Given the description of an element on the screen output the (x, y) to click on. 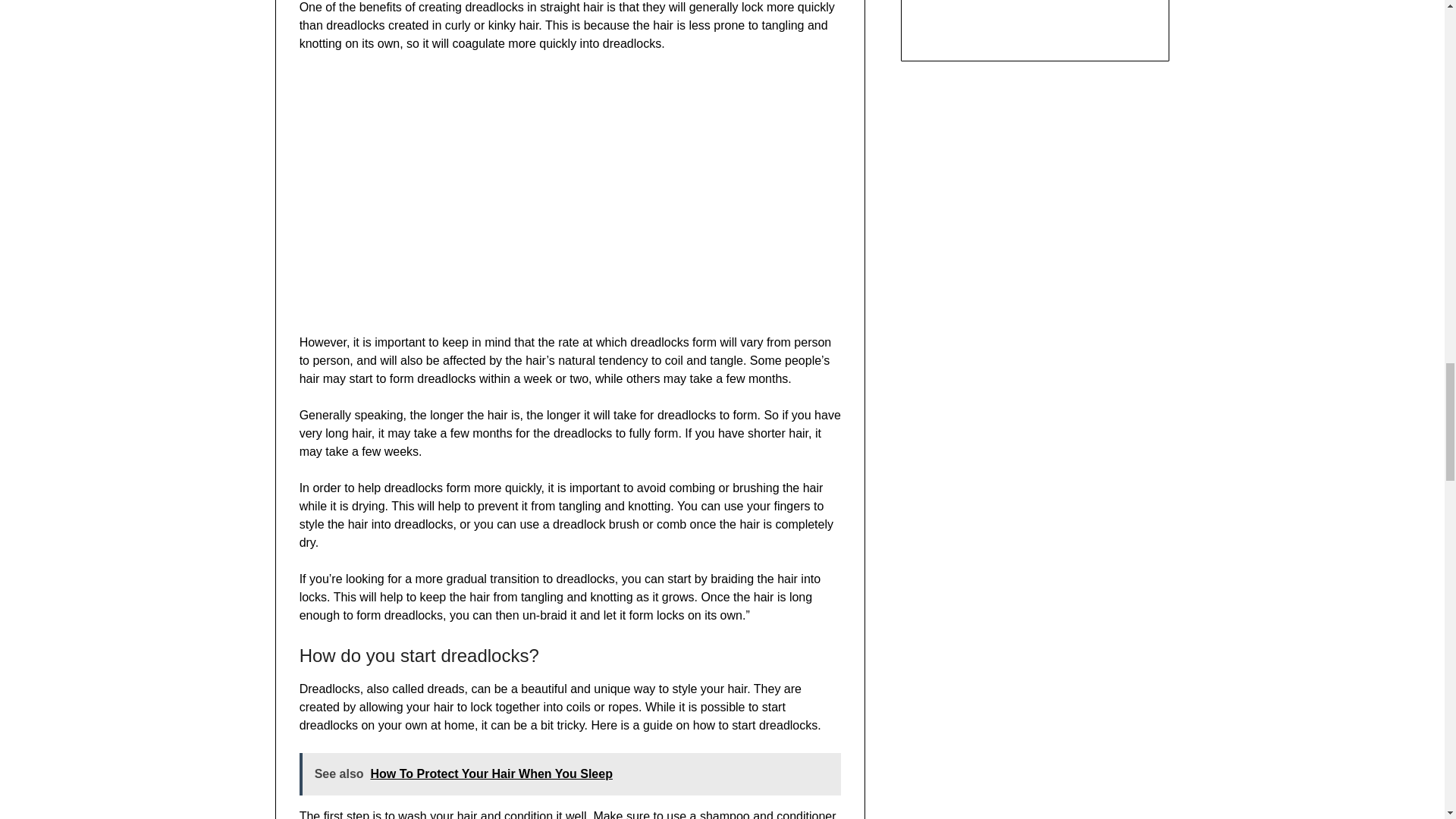
See also  How To Protect Your Hair When You Sleep (570, 773)
Spotify Embed: Let It Be - Remastered 2009 (1035, 13)
